Given the description of an element on the screen output the (x, y) to click on. 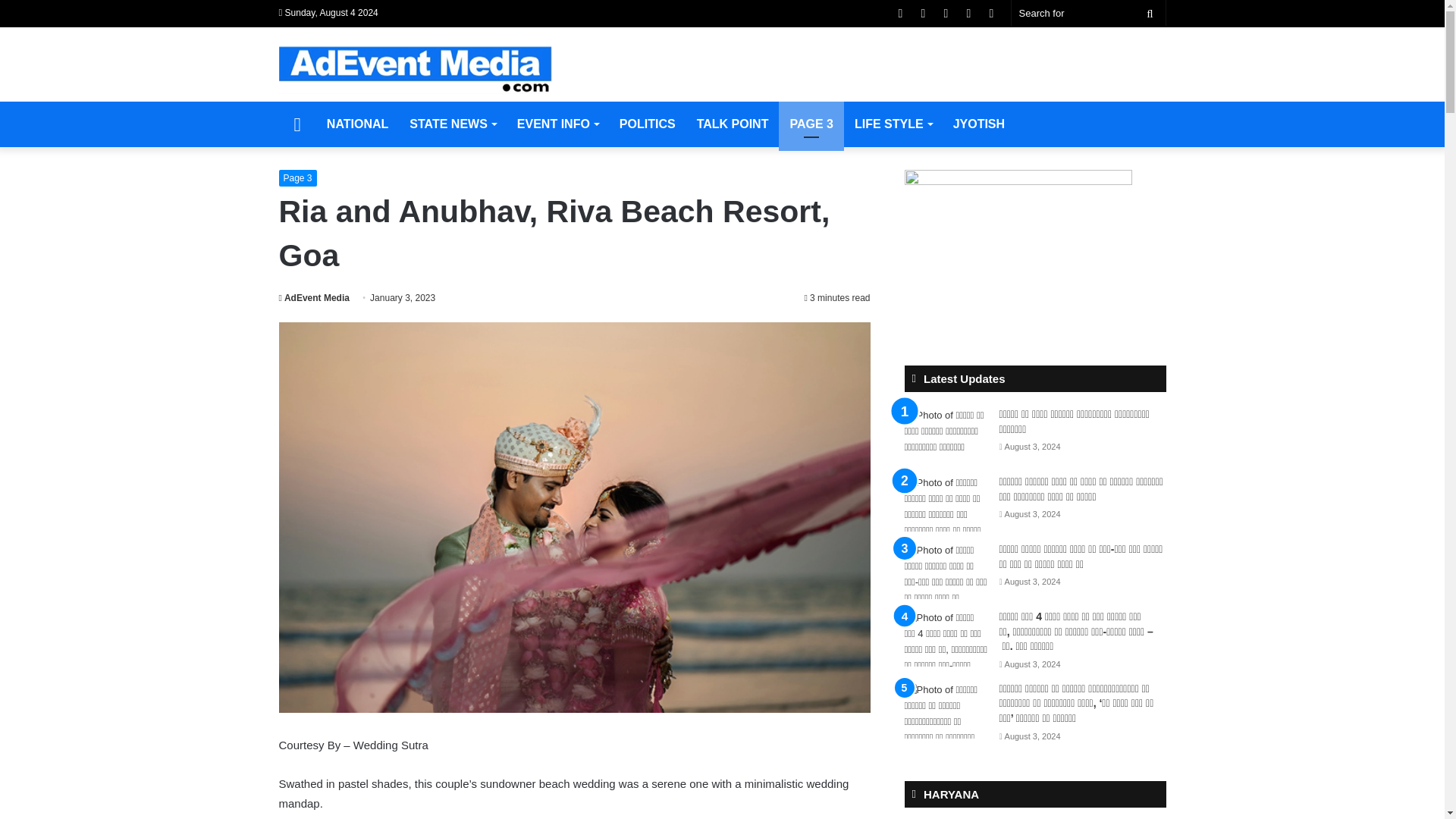
POLITICS (646, 124)
Page 3 (298, 177)
JYOTISH (978, 124)
STATE NEWS (452, 124)
AdEvent Media (314, 297)
PAGE 3 (811, 124)
NATIONAL (356, 124)
Search for (1150, 13)
TALK POINT (731, 124)
Ad Event Media (415, 69)
